Given the description of an element on the screen output the (x, y) to click on. 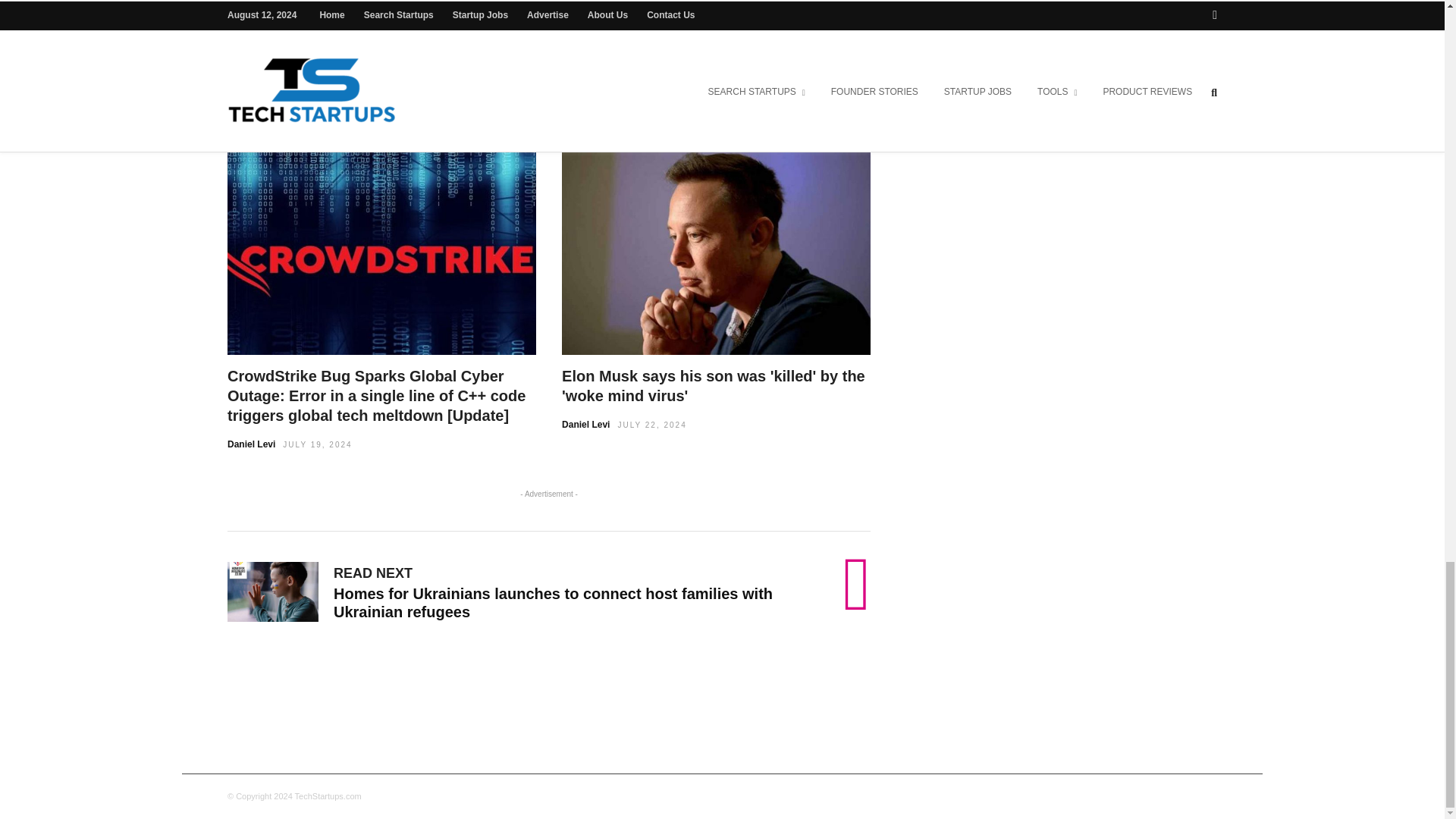
Share On Pinterest (662, 27)
Share On Twitter (586, 27)
Share On Facebook (446, 27)
Share by Email (711, 27)
